Given the description of an element on the screen output the (x, y) to click on. 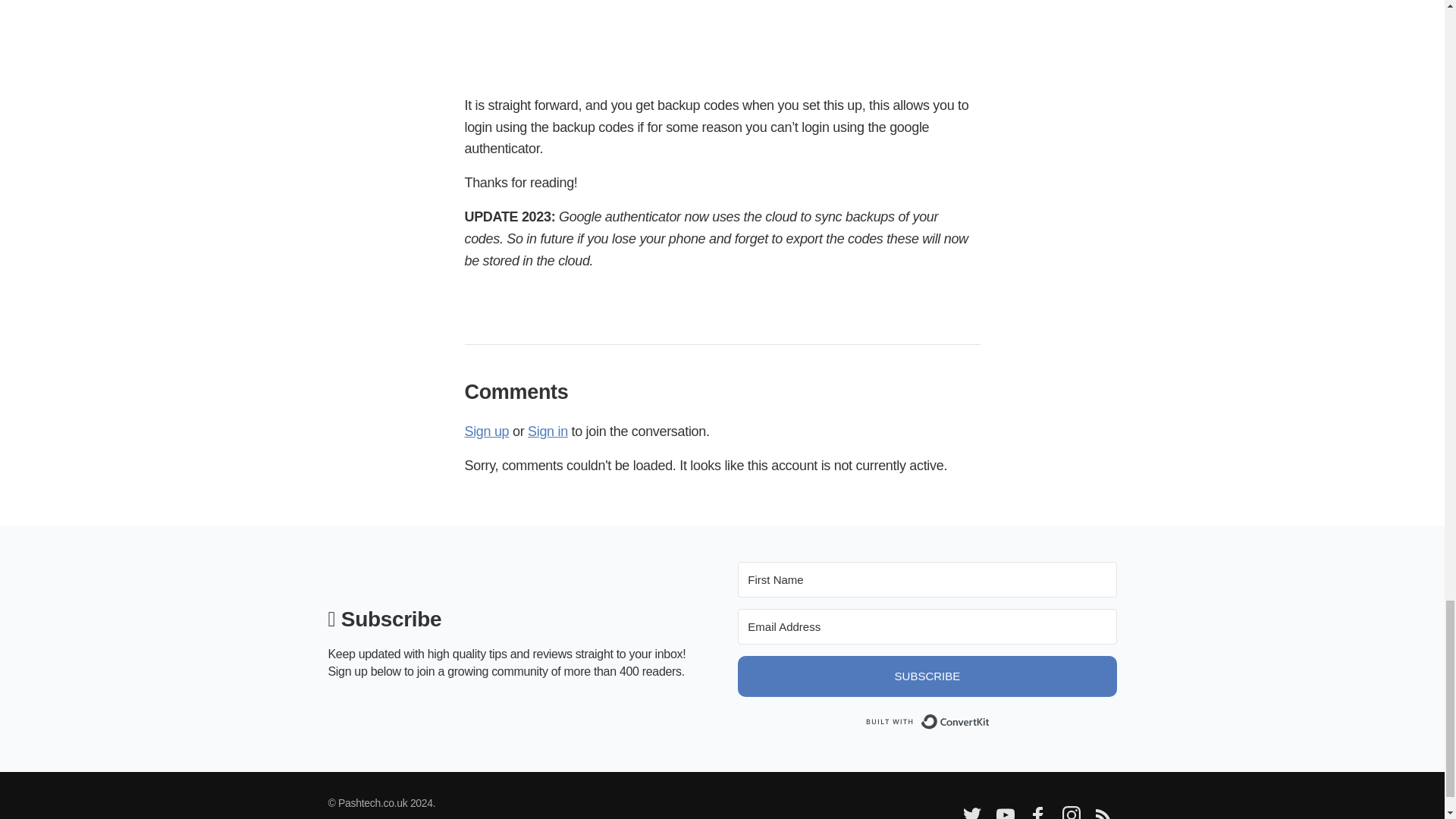
SUBSCRIBE (927, 676)
Sign up (486, 431)
Built with ConvertKit (927, 721)
RSS (1101, 816)
Sign in (547, 431)
